Given the description of an element on the screen output the (x, y) to click on. 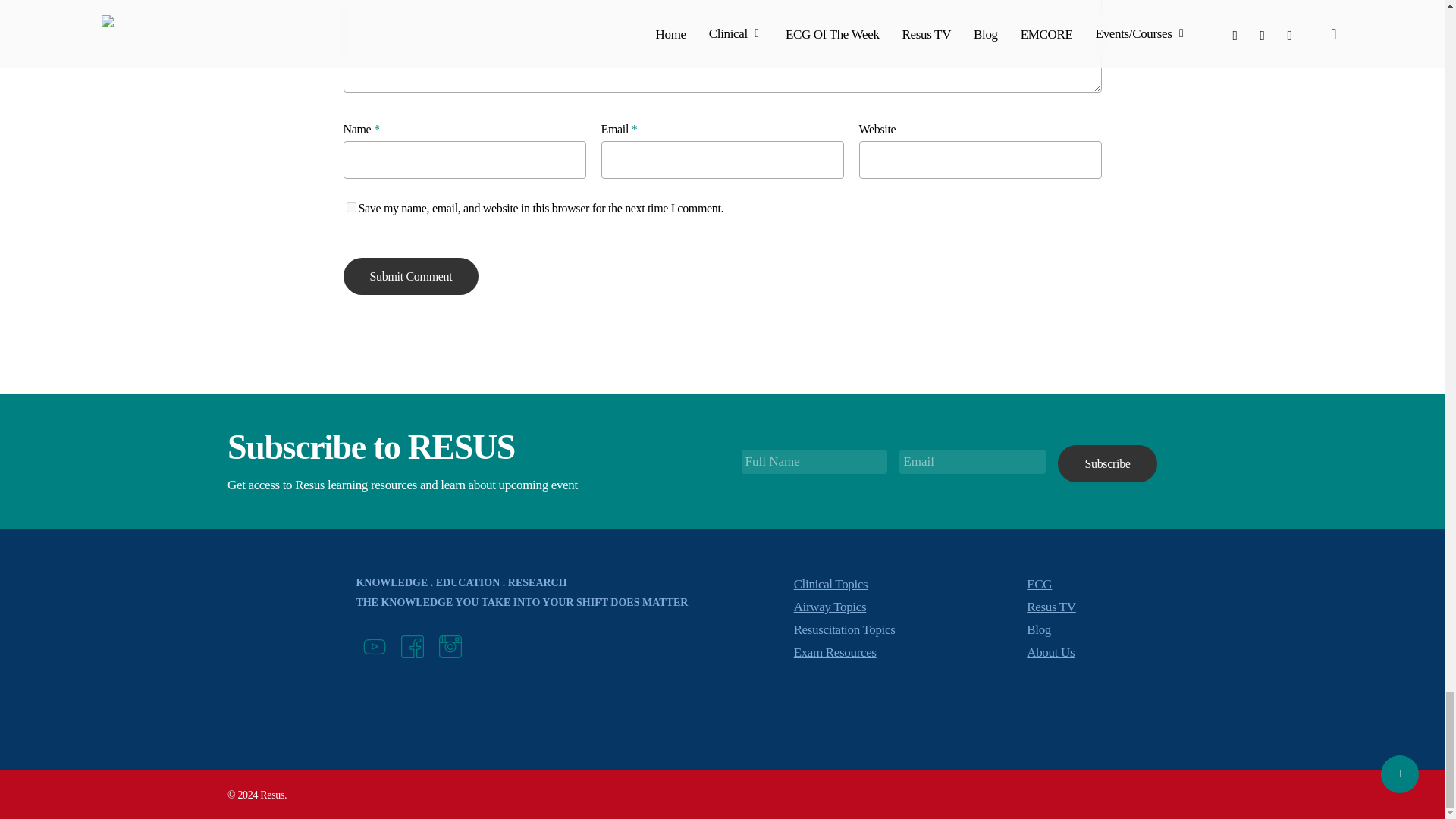
Submit Comment (410, 275)
yes (350, 207)
Subscribe (1107, 463)
